Given the description of an element on the screen output the (x, y) to click on. 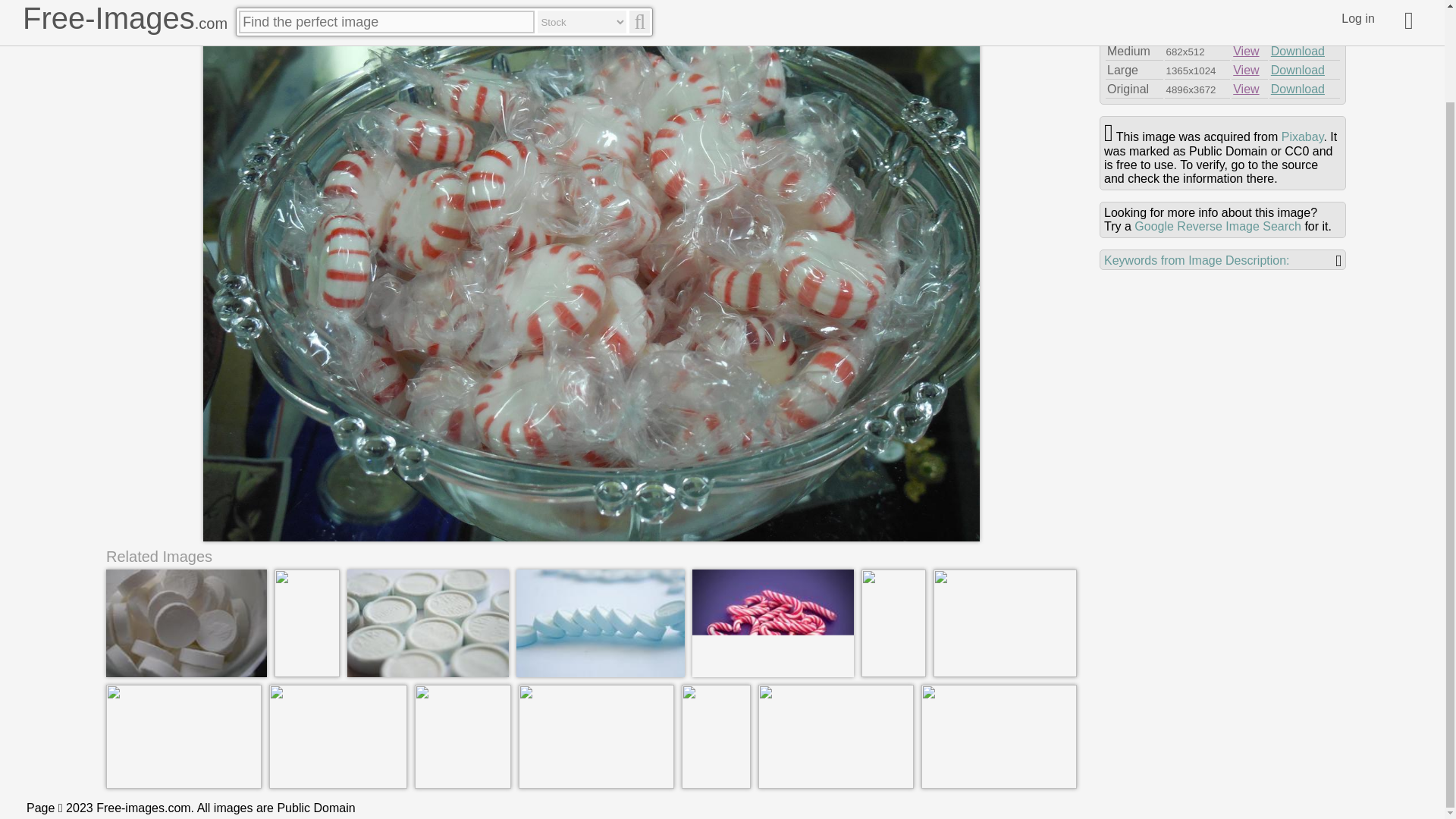
Download (1297, 88)
Pixabay (1302, 136)
Google Reverse Image Search (1217, 226)
Download (1297, 12)
View (1246, 88)
Download (1297, 51)
Download (1297, 31)
View (1246, 12)
View (1246, 69)
Download (1297, 69)
